Given the description of an element on the screen output the (x, y) to click on. 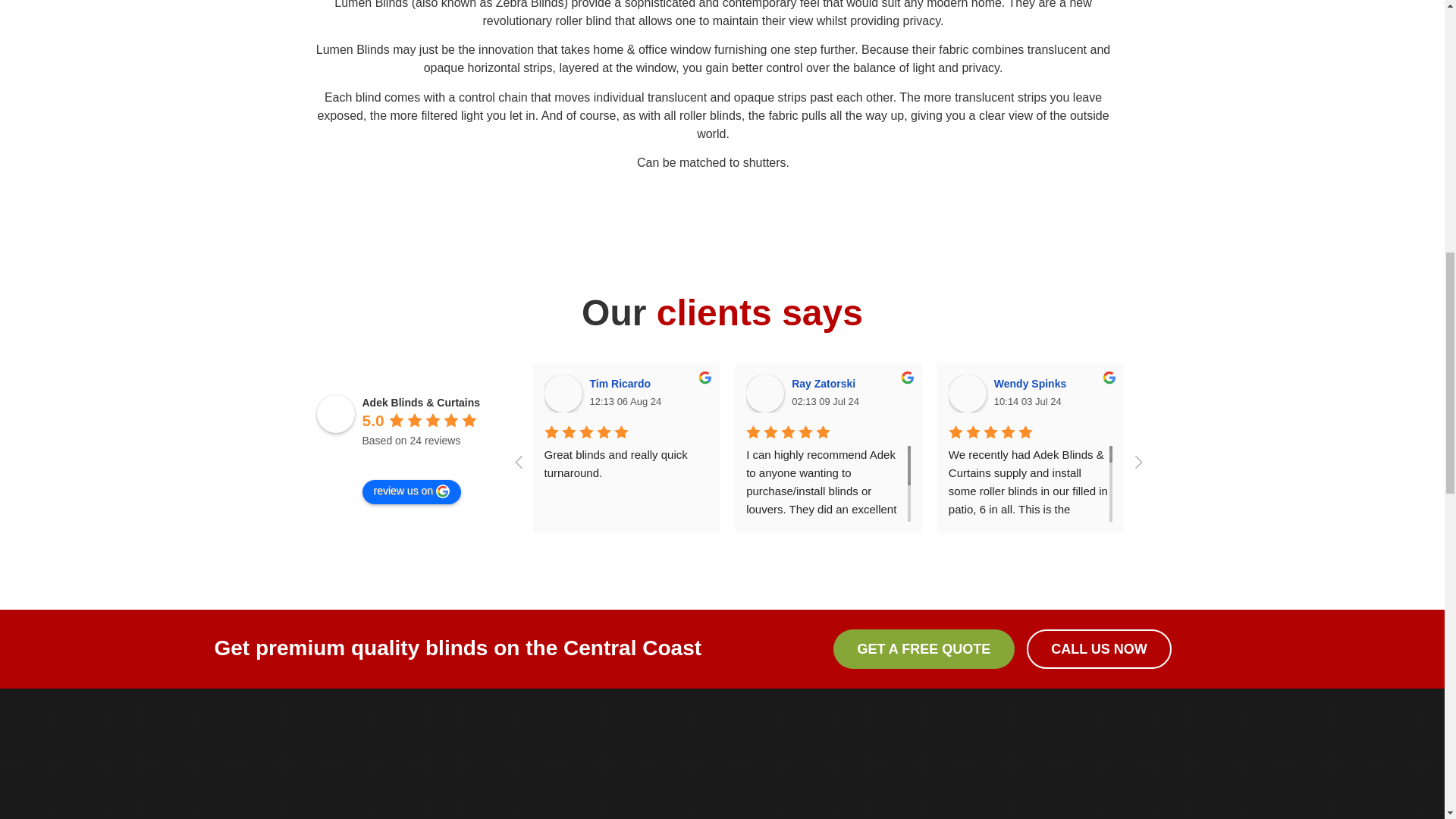
Wendy Spinks (968, 393)
Tim Ricardo (563, 393)
Rick Parsons (1169, 393)
Ray Zatorski (764, 393)
powered by Google (416, 459)
Terence Baumback (1371, 393)
